Given the description of an element on the screen output the (x, y) to click on. 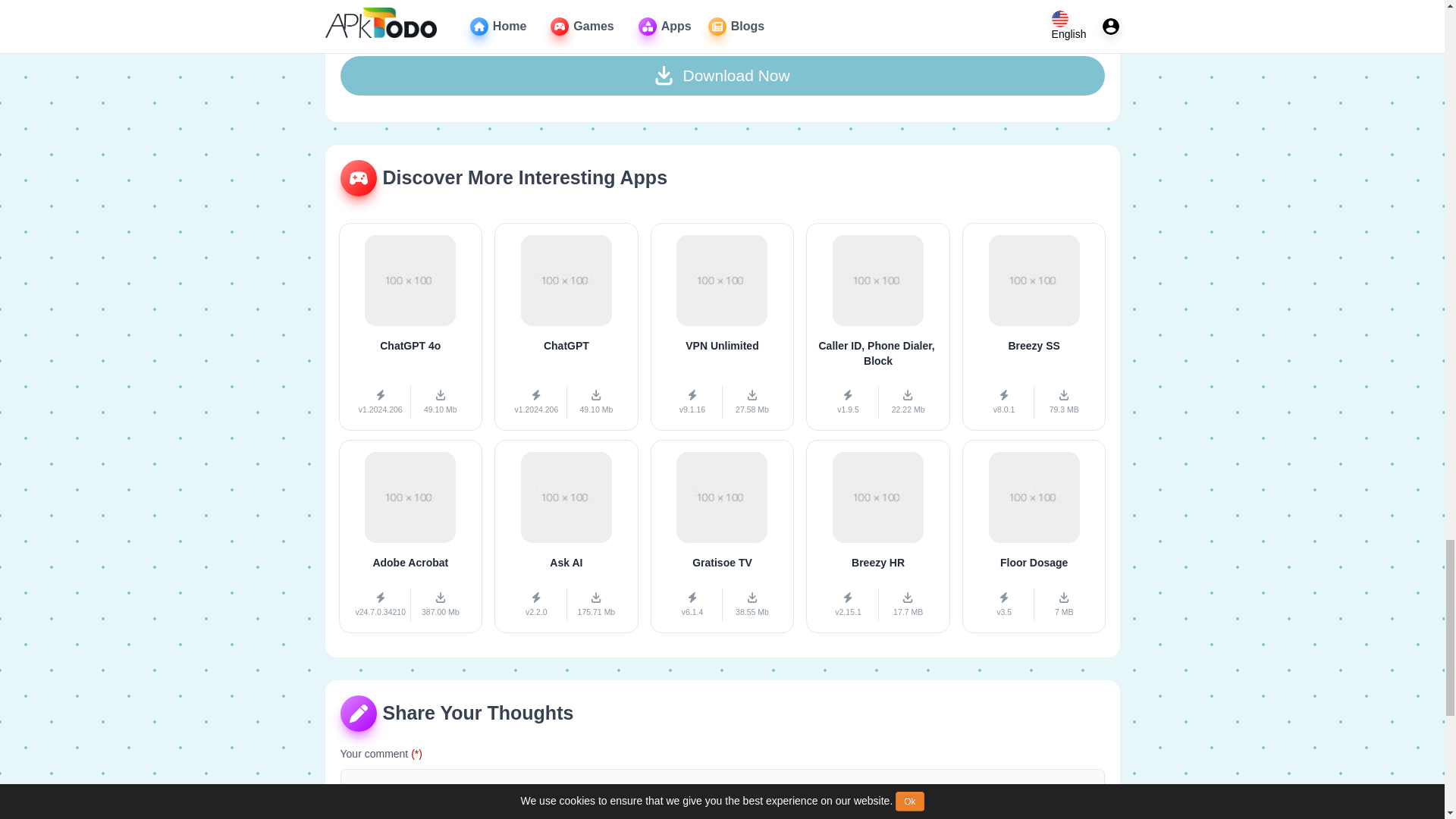
Breezy SS (1034, 326)
ChatGPT (722, 326)
VPN Unlimited (567, 326)
Caller ID, Phone Dialer, Block (722, 326)
Gratisoe TV (878, 326)
Ask AI (409, 326)
Download Now (722, 536)
Floor Dosage (567, 536)
Breezy HR (721, 75)
ChatGPT 4o (1034, 536)
Adobe Acrobat (878, 536)
